Given the description of an element on the screen output the (x, y) to click on. 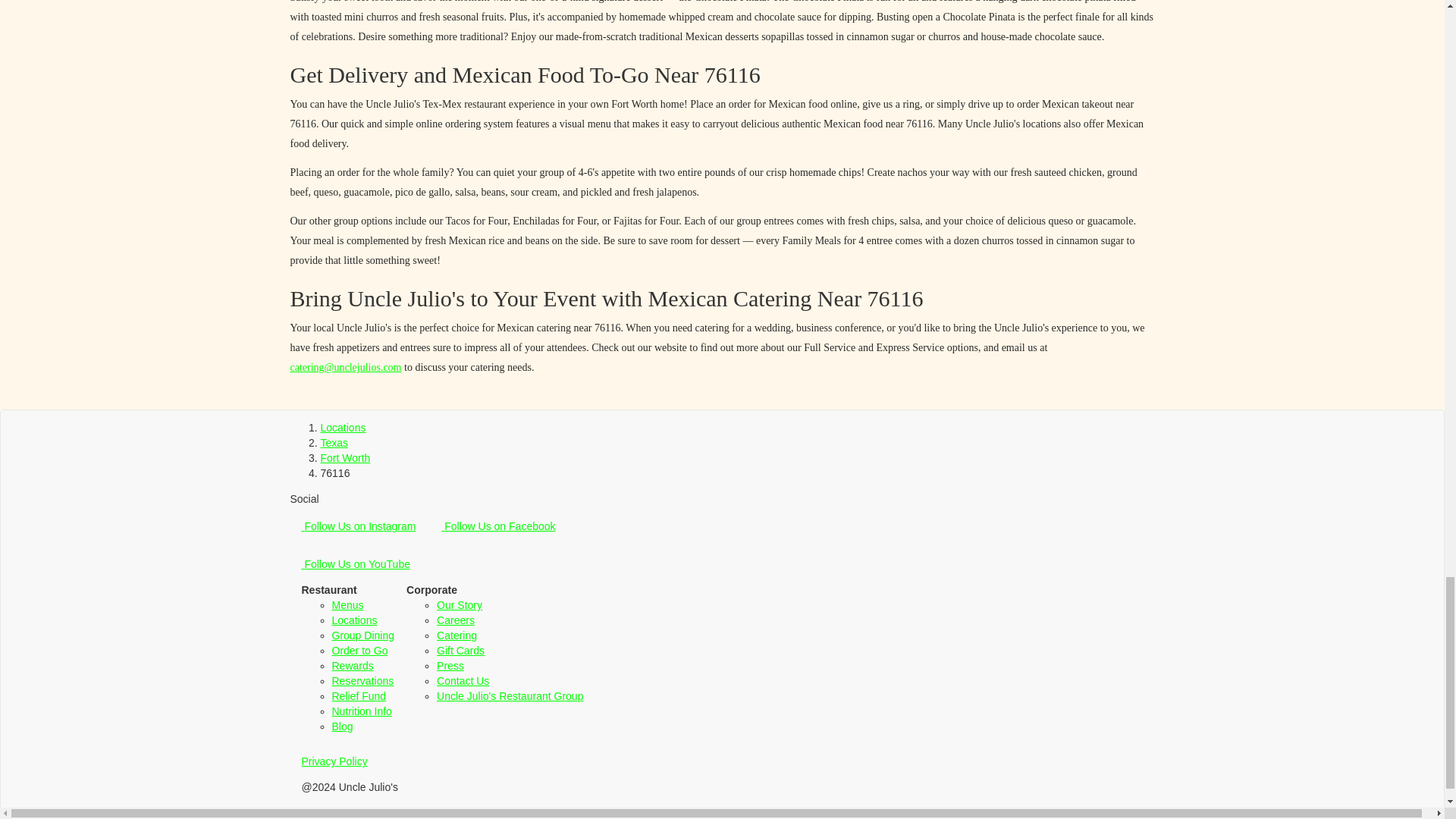
Locations (342, 427)
Fort Worth (344, 458)
Follow Us on Facebook (497, 525)
Follow Us on YouTube (354, 564)
Texas (333, 442)
Follow Us on Instagram (357, 525)
